Given the description of an element on the screen output the (x, y) to click on. 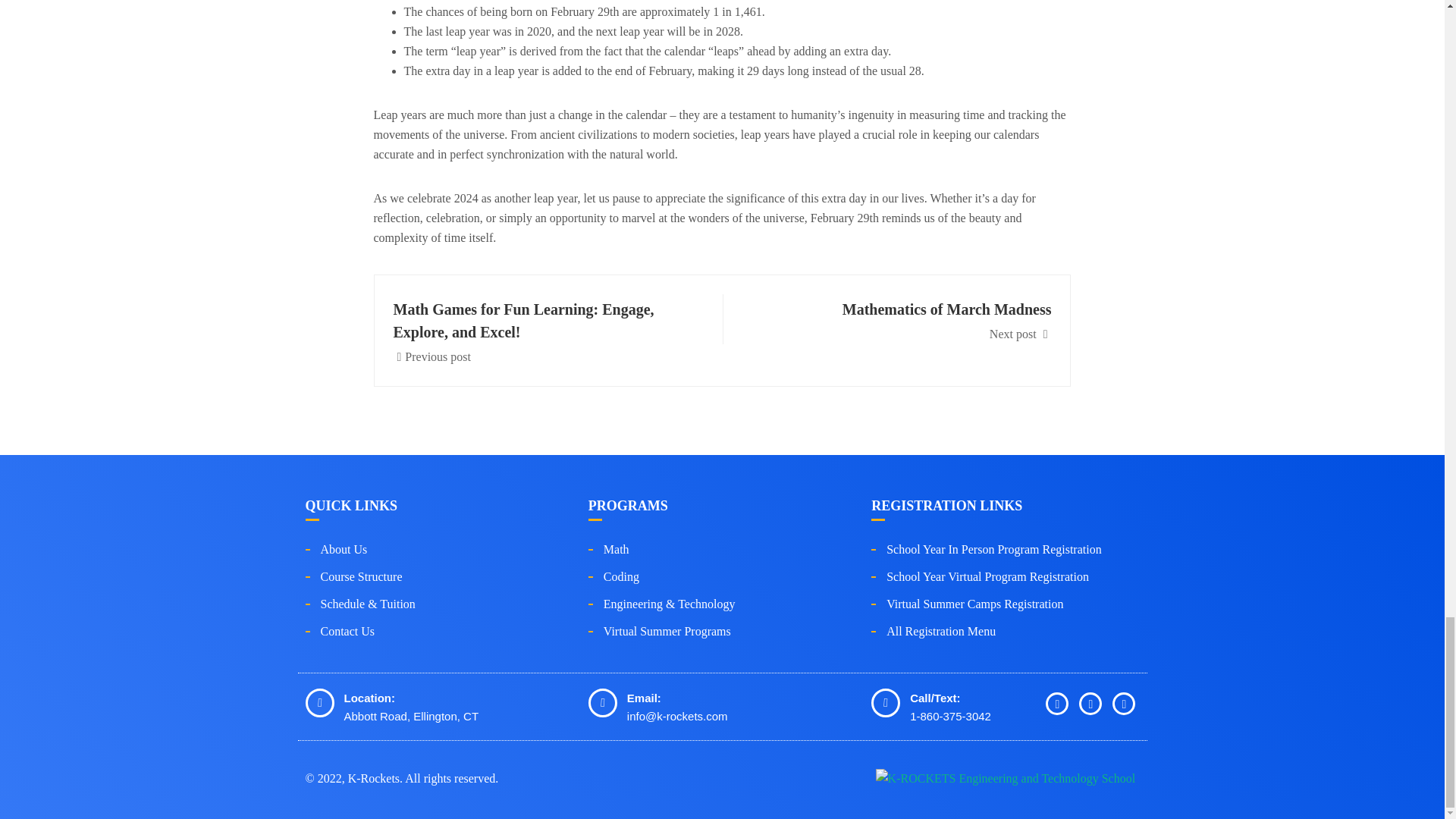
Math (616, 549)
Course Structure (902, 319)
Contact Us (360, 576)
About Us (347, 631)
